Given the description of an element on the screen output the (x, y) to click on. 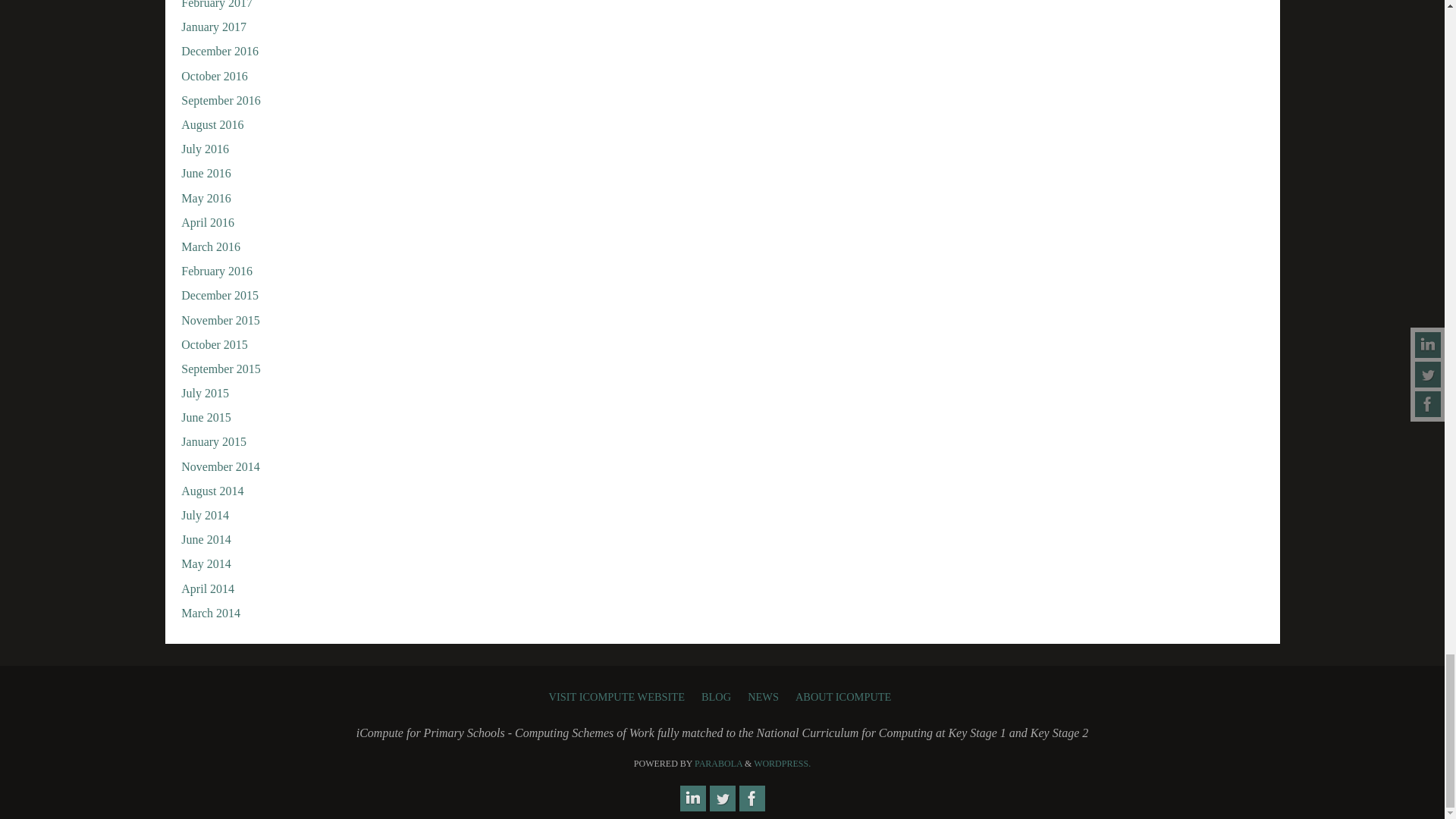
Parabola Theme by Cryout Creations (718, 763)
